Given the description of an element on the screen output the (x, y) to click on. 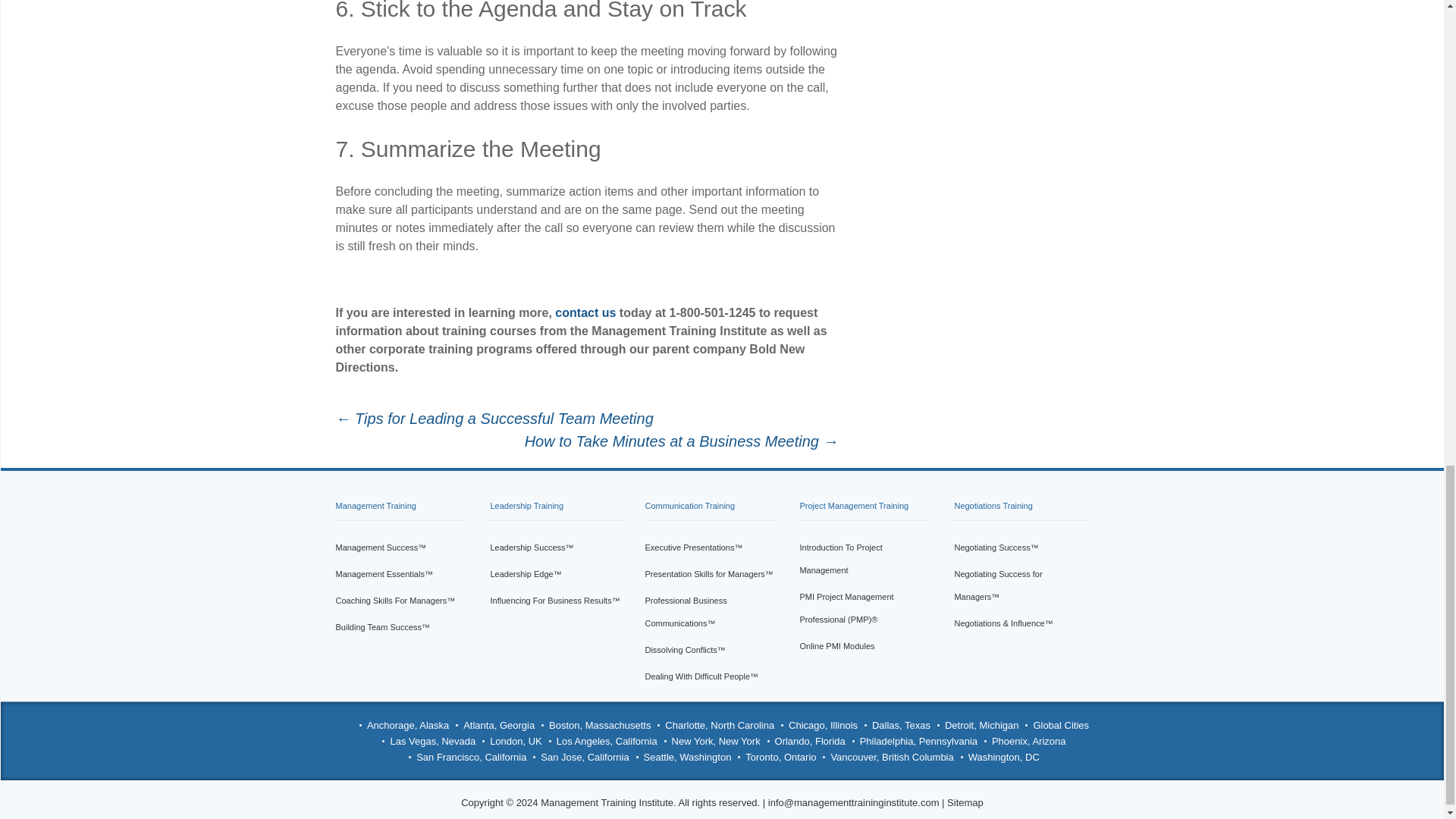
Boston, Massachusetts (599, 725)
Anchorage, Alaska (407, 725)
Atlanta, Georgia (498, 725)
